Given the description of an element on the screen output the (x, y) to click on. 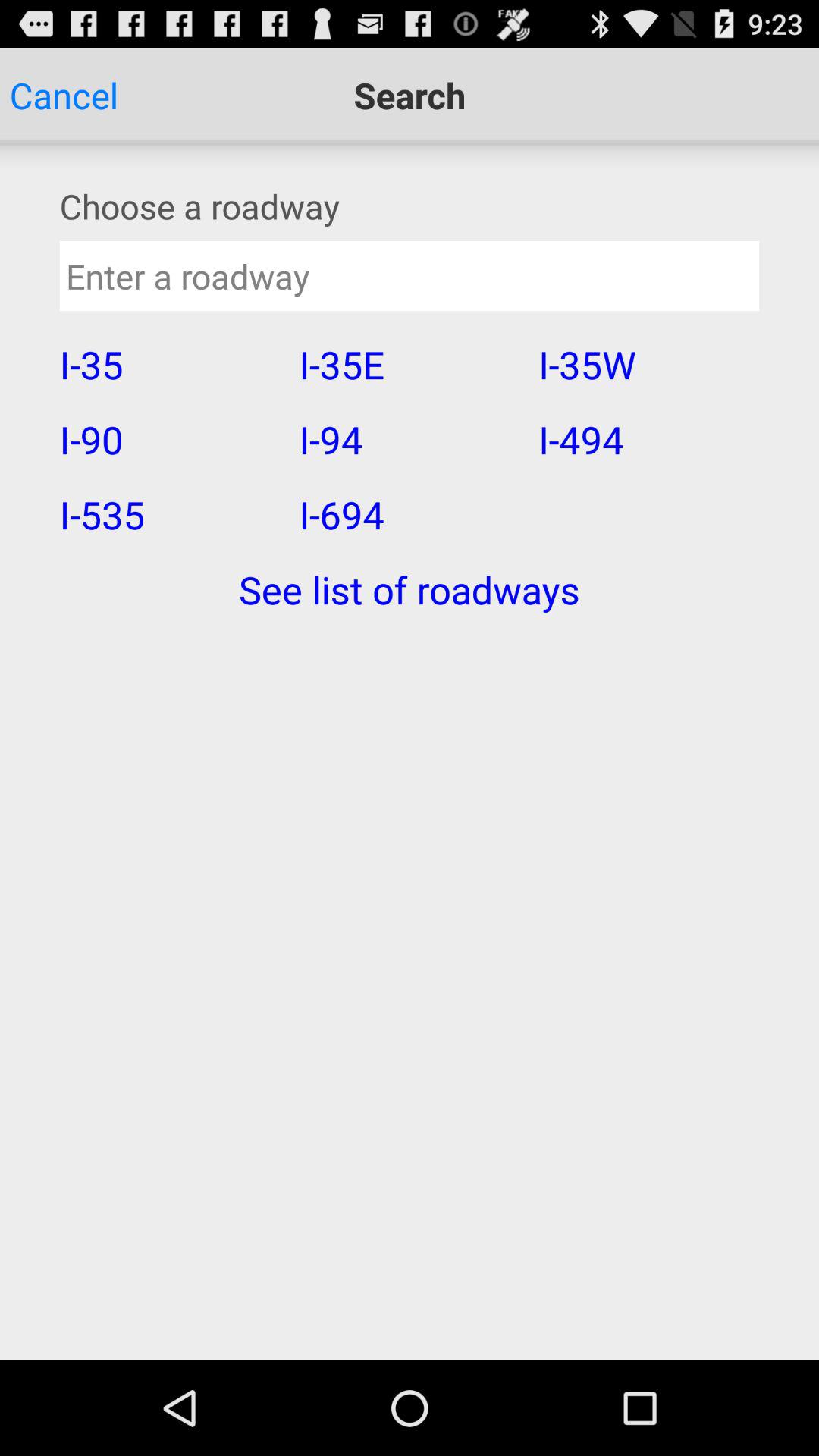
turn off the i-94 app (408, 439)
